Given the description of an element on the screen output the (x, y) to click on. 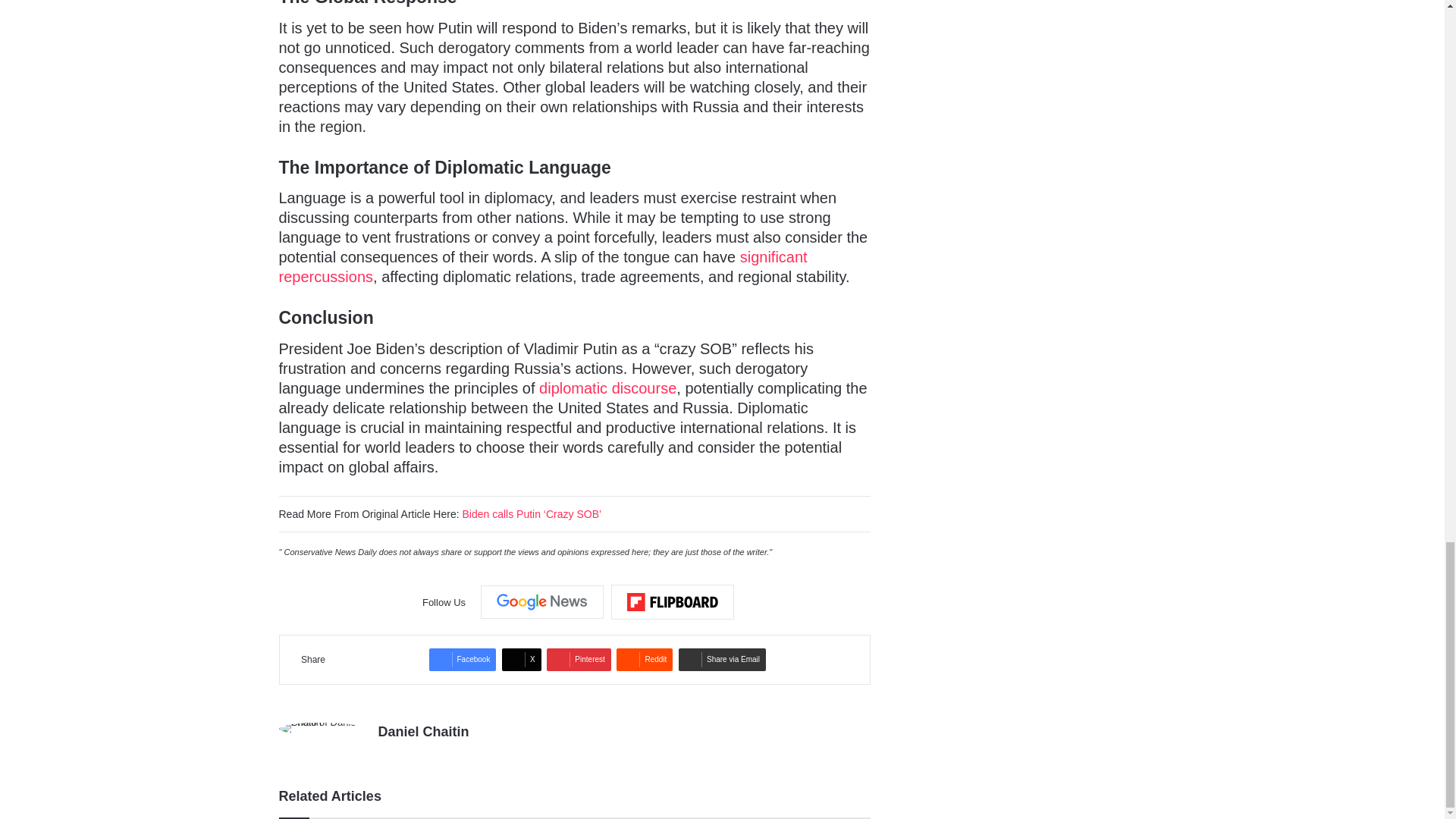
Pinterest (578, 659)
Reddit (643, 659)
Facebook (462, 659)
X (521, 659)
Facebook (462, 659)
Women's Rights Debate Triggers Parliament Brawl in Jordan (543, 266)
Pinterest (578, 659)
diplomatic discourse (607, 388)
significant repercussions (543, 266)
